Given the description of an element on the screen output the (x, y) to click on. 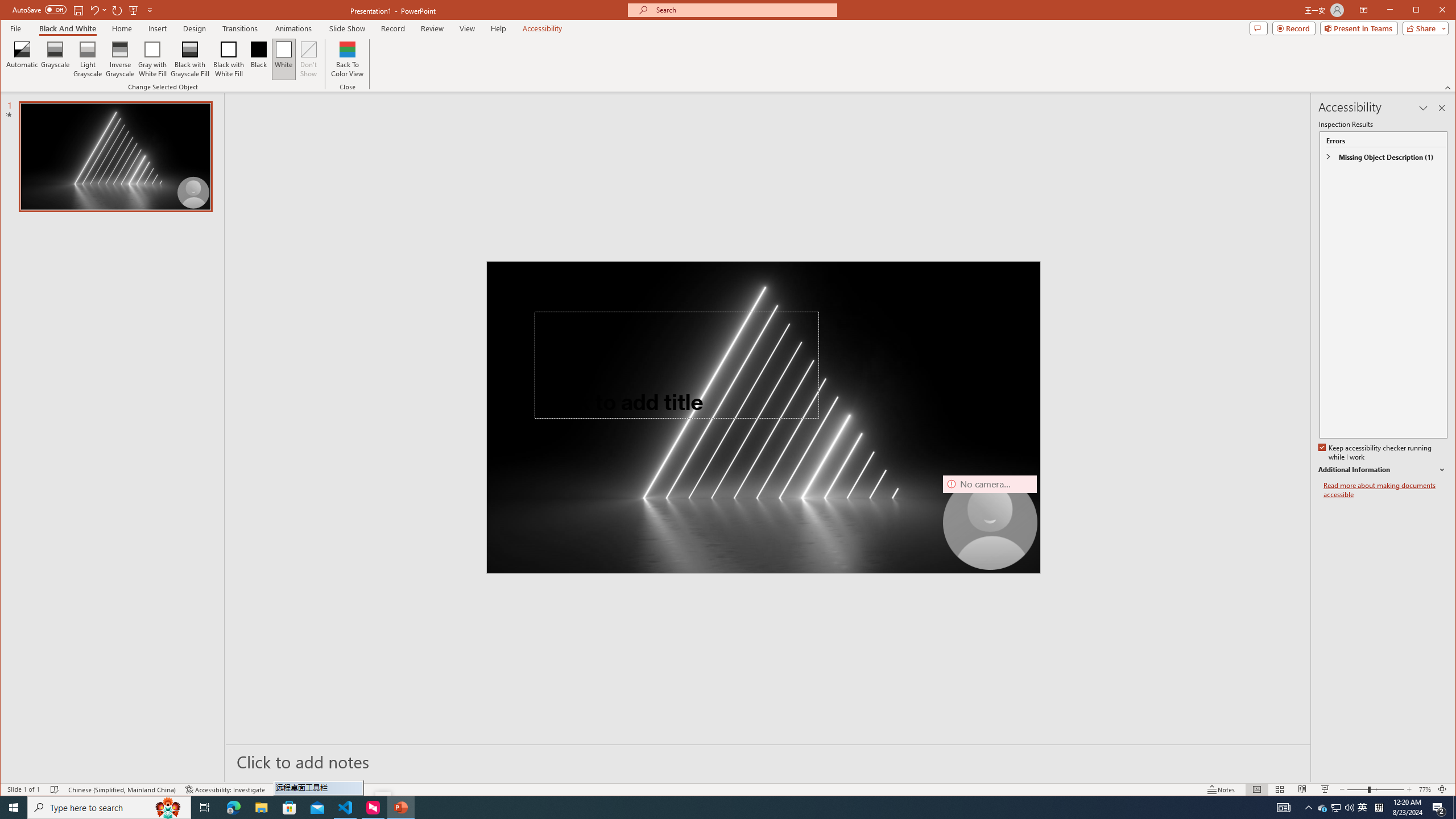
Microsoft Edge (233, 807)
Light Grayscale (87, 59)
